Given the description of an element on the screen output the (x, y) to click on. 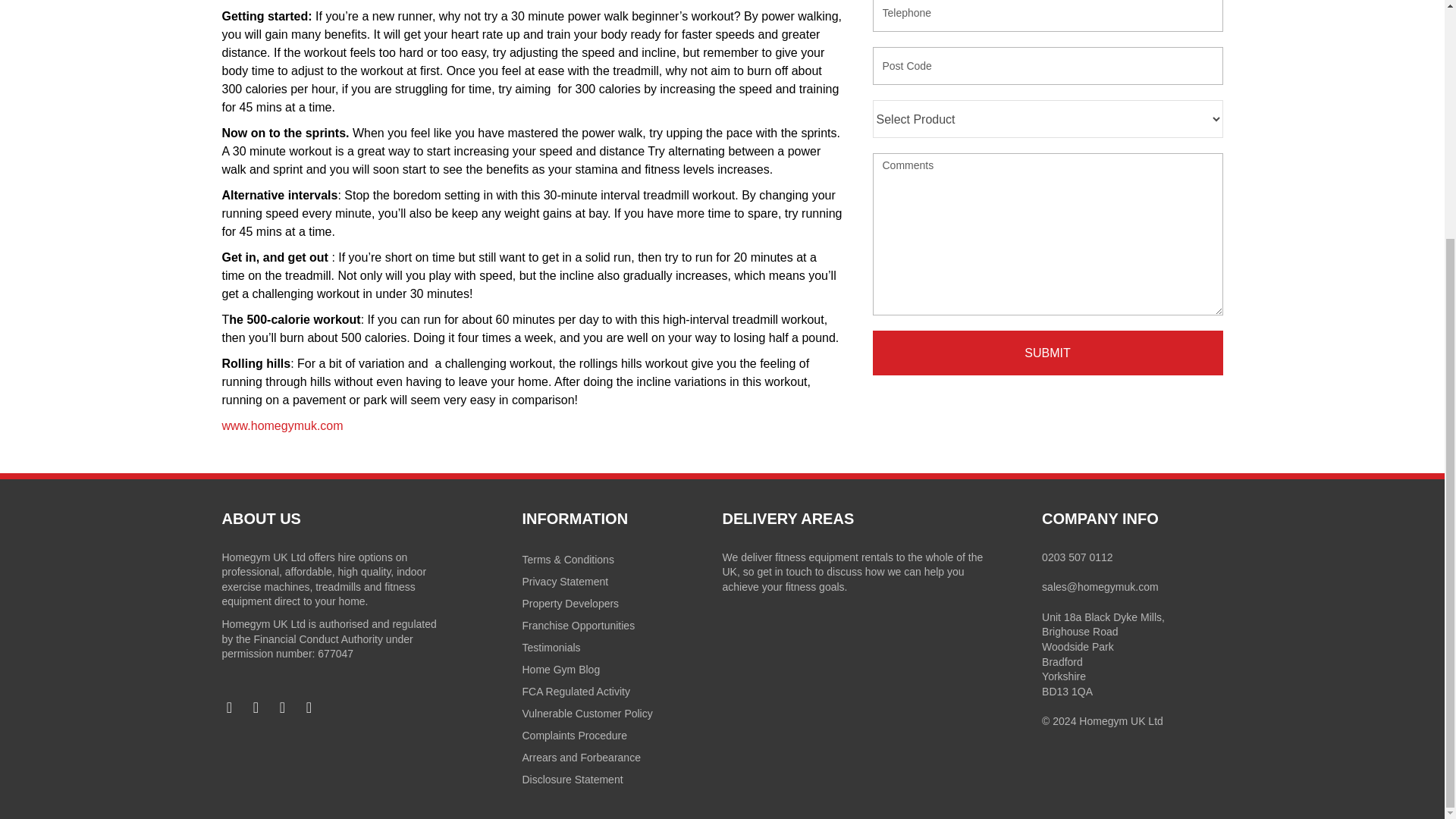
Submit (1047, 352)
Privacy Statement (621, 581)
www.homegymuk.com (281, 425)
Submit (1047, 352)
